Given the description of an element on the screen output the (x, y) to click on. 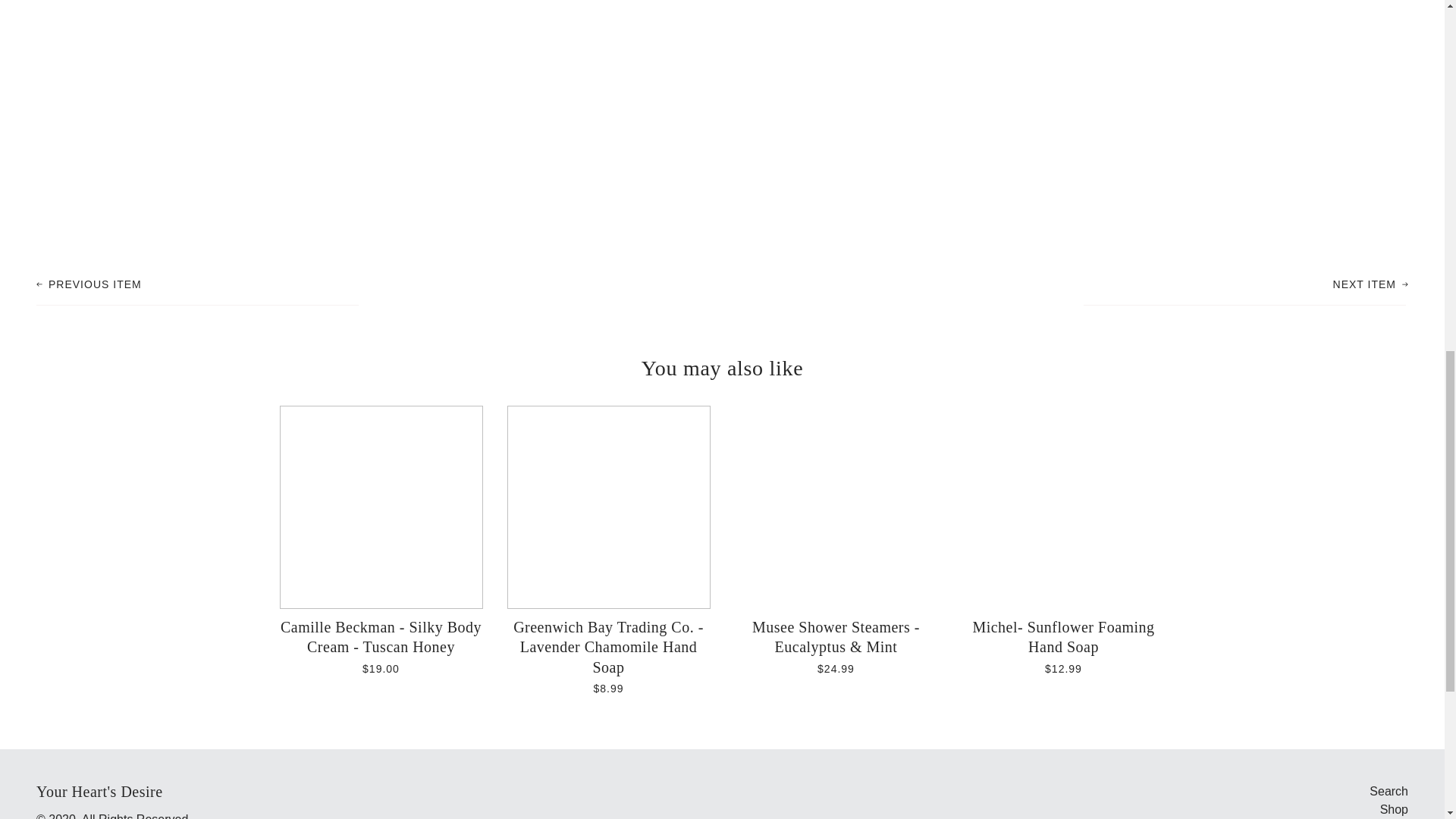
Inis Energy Of The Sea Scented Sachet (88, 283)
Camille Beckman - Silky Body Cream - Camille (1370, 283)
Search (1388, 790)
Shop (1393, 809)
